Given the description of an element on the screen output the (x, y) to click on. 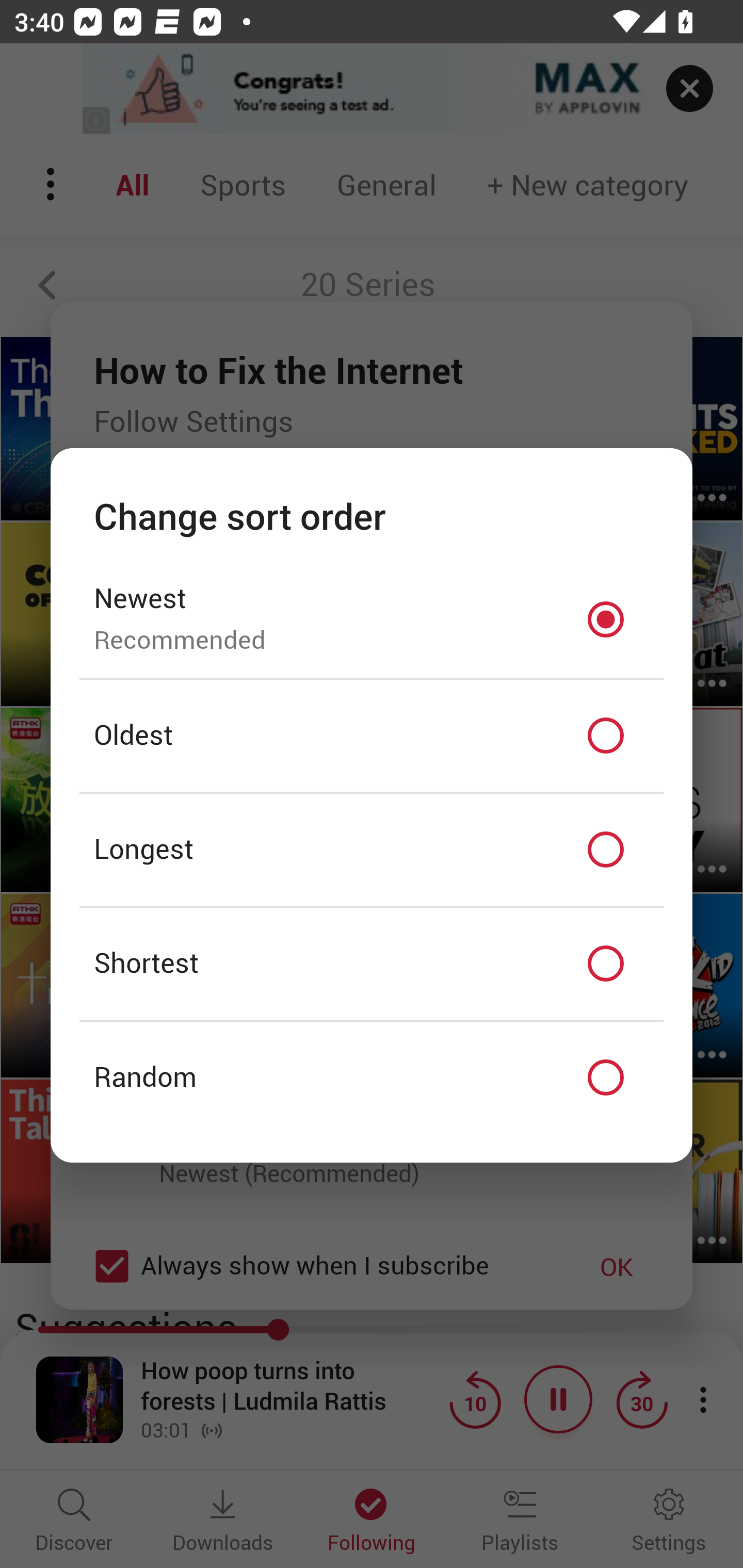
Newest Recommended (371, 619)
Oldest (371, 735)
Longest (371, 849)
Shortest (371, 963)
Random (371, 1077)
